Given the description of an element on the screen output the (x, y) to click on. 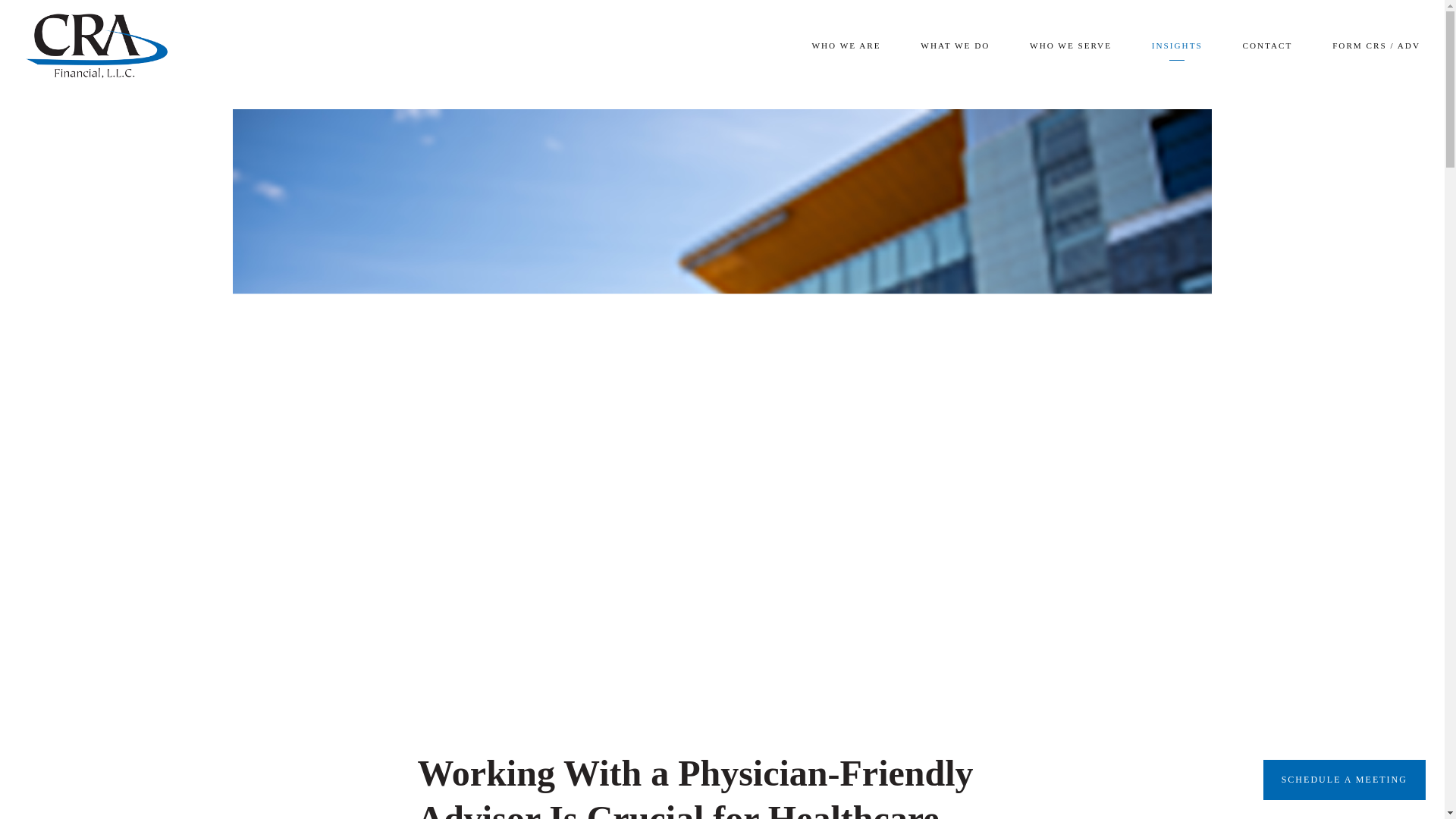
WHO WE SERVE (1070, 45)
CONTACT (1266, 45)
WHAT WE DO (955, 45)
WHO WE ARE (845, 45)
INSIGHTS (1176, 45)
